Given the description of an element on the screen output the (x, y) to click on. 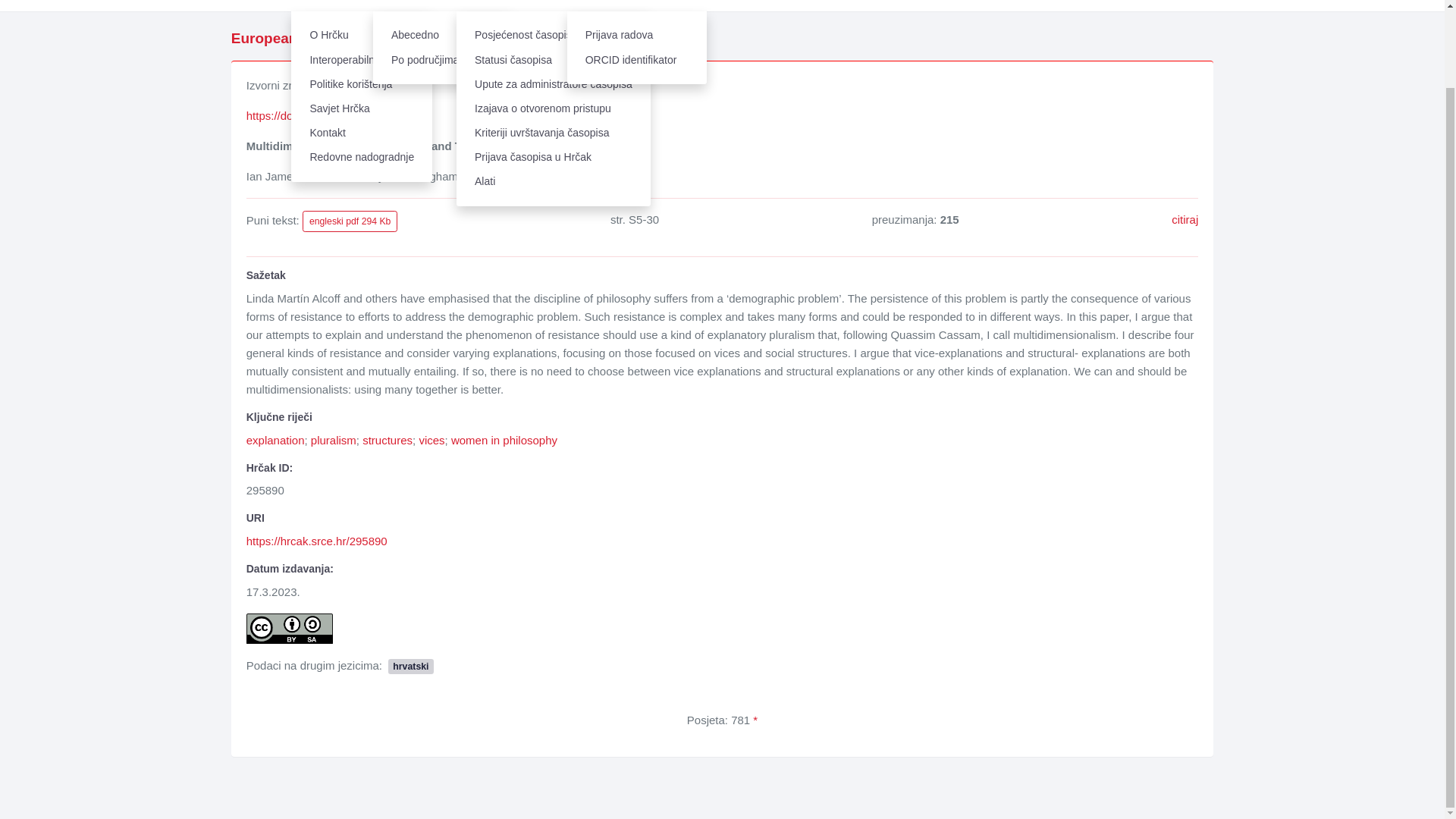
Interoperabilnost (361, 59)
Prijava radova (636, 35)
pluralism (333, 440)
citiraj (1185, 219)
mail (465, 176)
Abecedno (442, 35)
explanation (275, 440)
Izajava o otvorenom pristupu (553, 108)
Alati (553, 181)
European Journal of Analytic Philosophy (371, 37)
